Given the description of an element on the screen output the (x, y) to click on. 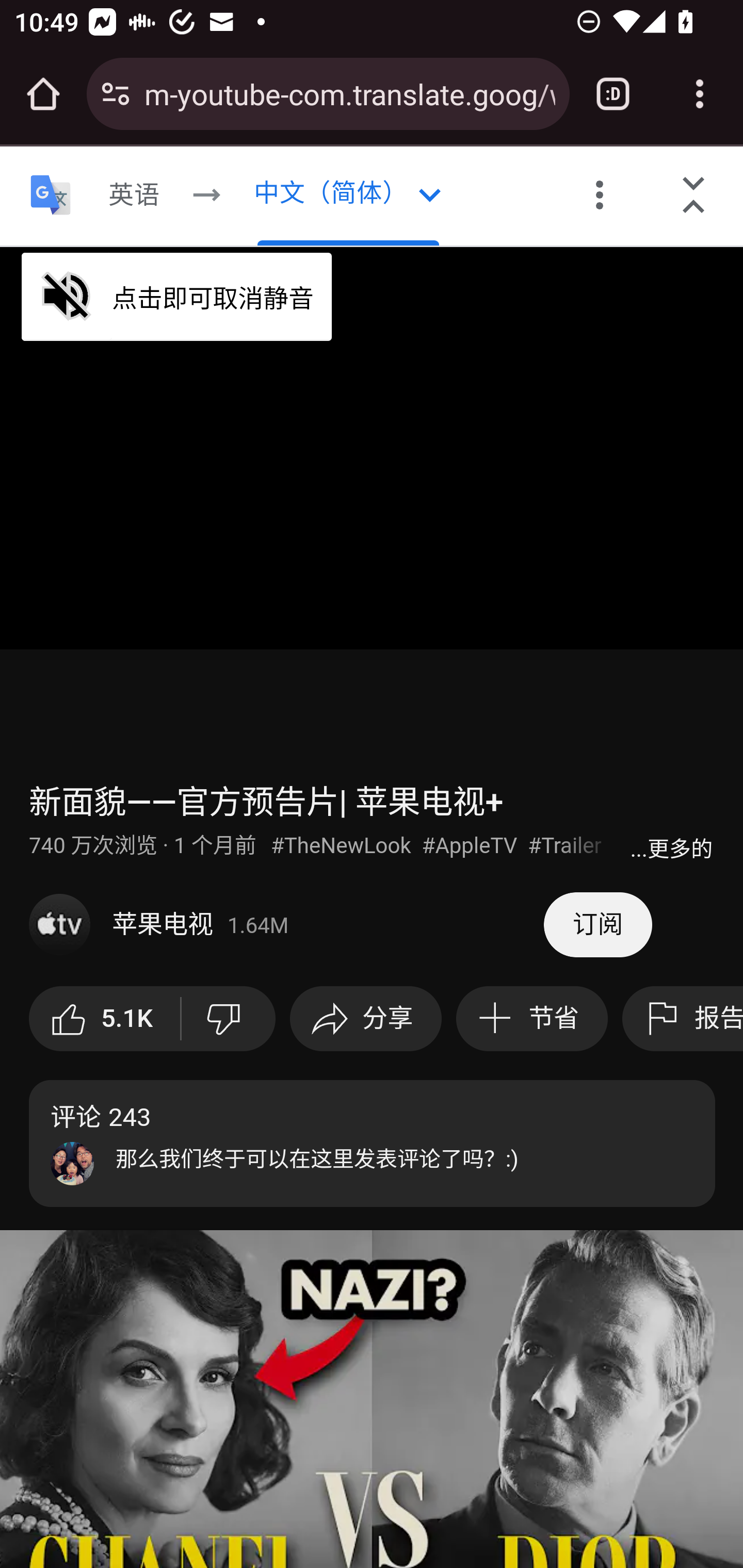
Open the home page (43, 93)
Connection is secure (115, 93)
Switch or close tabs (612, 93)
Customize and control Google Chrome (699, 93)
Google 翻译 (50, 195)
英语 (134, 195)
中文（简体）  (348, 195)
帐户 (434, 188)
更多菜单选项 (600, 195)
收起谷歌翻译导航栏 (694, 195)
点击即可取消静音 (177, 296)
展示更多 (670, 847)
#TheNewLook  (342, 845)
#AppleTV  (471, 845)
#Trailer (565, 845)
订阅苹果电视。 (597, 925)
苹果电视 (286, 924)
和其他 5,161 人一起喜欢这个视频 (105, 1019)
不喜欢这个视频 (228, 1019)
分享 (365, 1019)
保存到播放列表 (531, 1019)
报告 (682, 1019)
评论 (372, 1142)
